Given the description of an element on the screen output the (x, y) to click on. 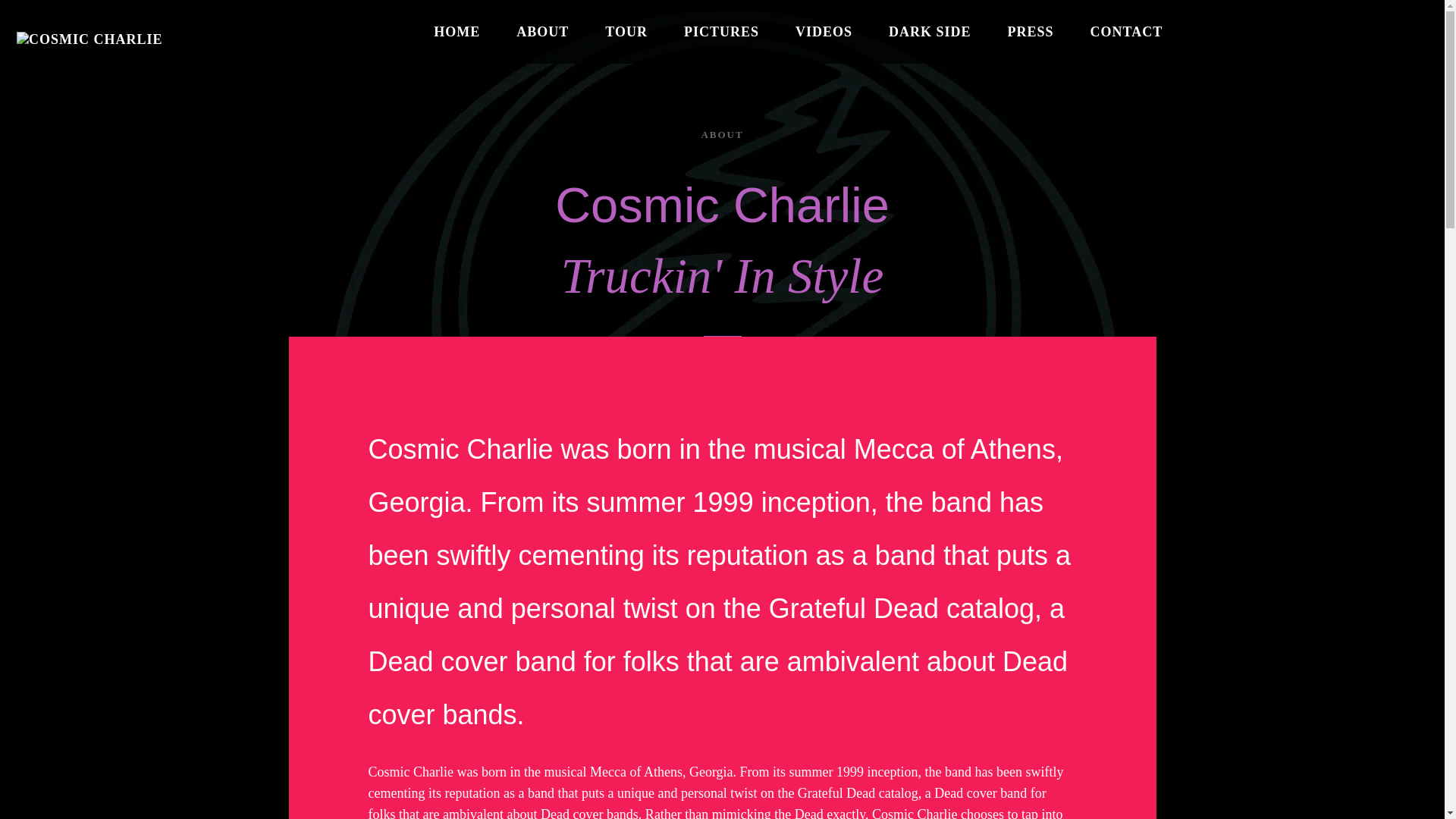
TOUR (625, 31)
PICTURES (721, 31)
VIDEOS (823, 31)
PRESS (1030, 31)
ABOUT (542, 31)
DARK SIDE (929, 31)
HOME (457, 31)
CONTACT (1126, 31)
